Given the description of an element on the screen output the (x, y) to click on. 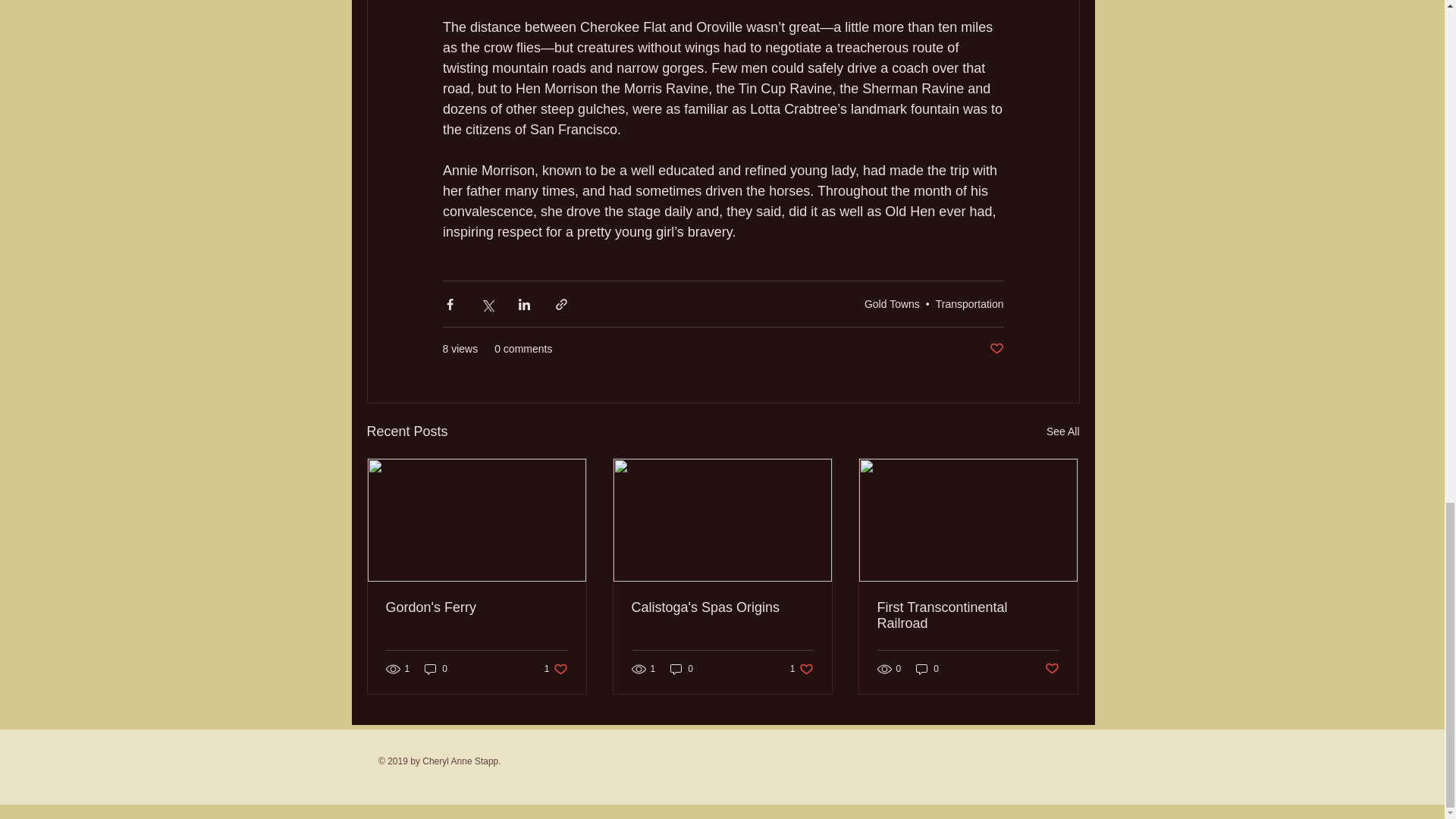
Transportation (970, 304)
Gold Towns (892, 304)
Post not marked as liked (995, 349)
See All (1063, 431)
